Given the description of an element on the screen output the (x, y) to click on. 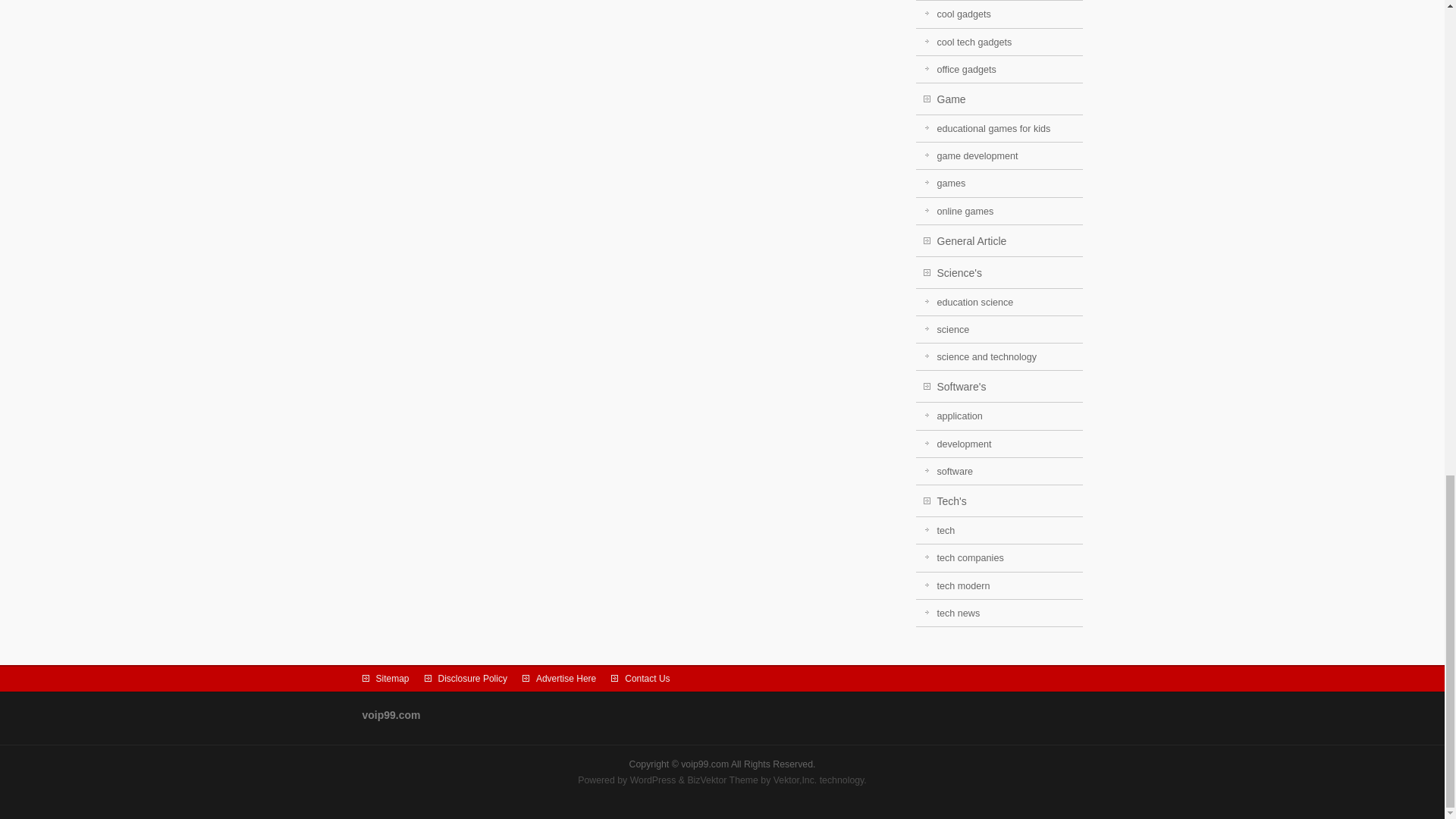
Free WordPress Theme BizVektor for business (722, 779)
